Given the description of an element on the screen output the (x, y) to click on. 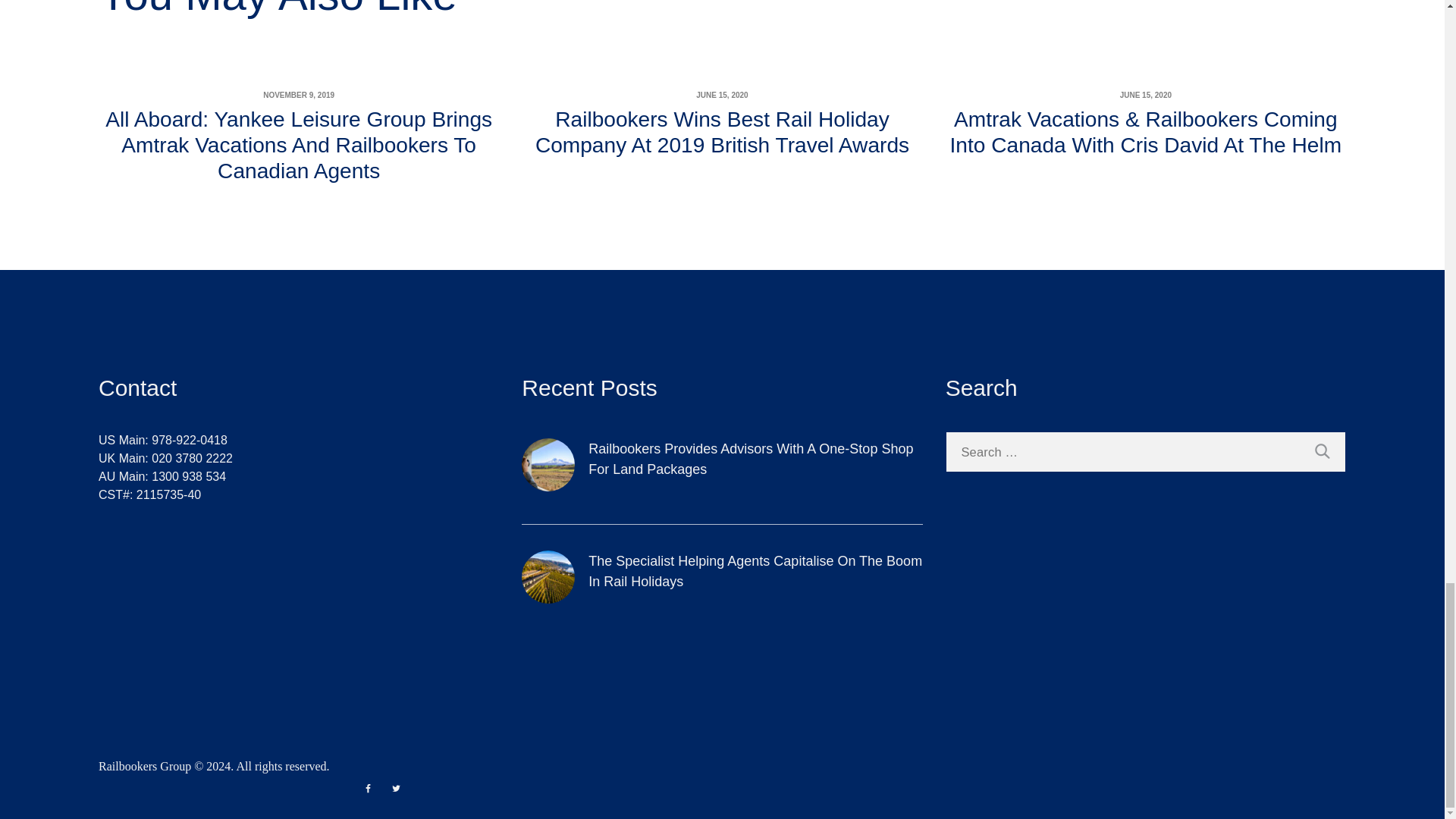
Search (1321, 452)
Search (1321, 452)
